Given the description of an element on the screen output the (x, y) to click on. 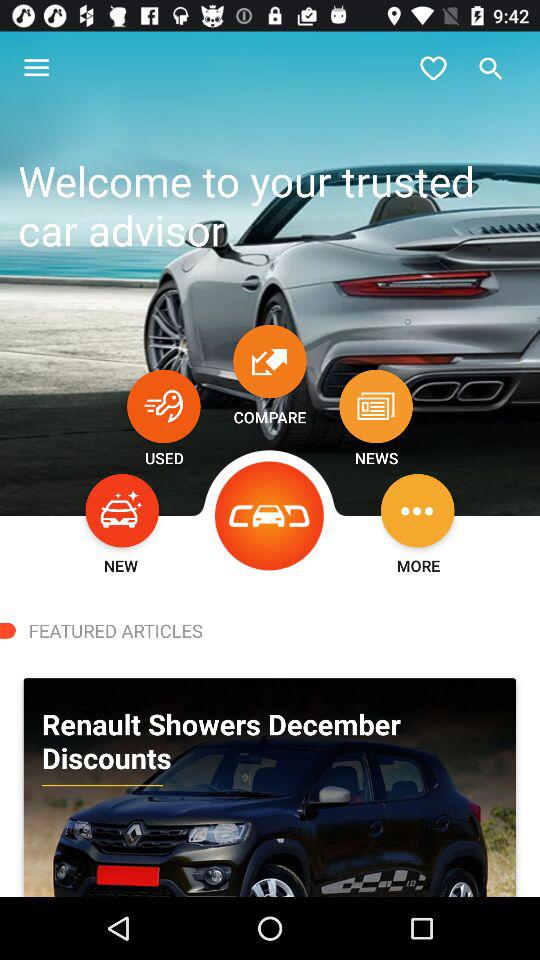
select the icon to the left of news (269, 515)
